Given the description of an element on the screen output the (x, y) to click on. 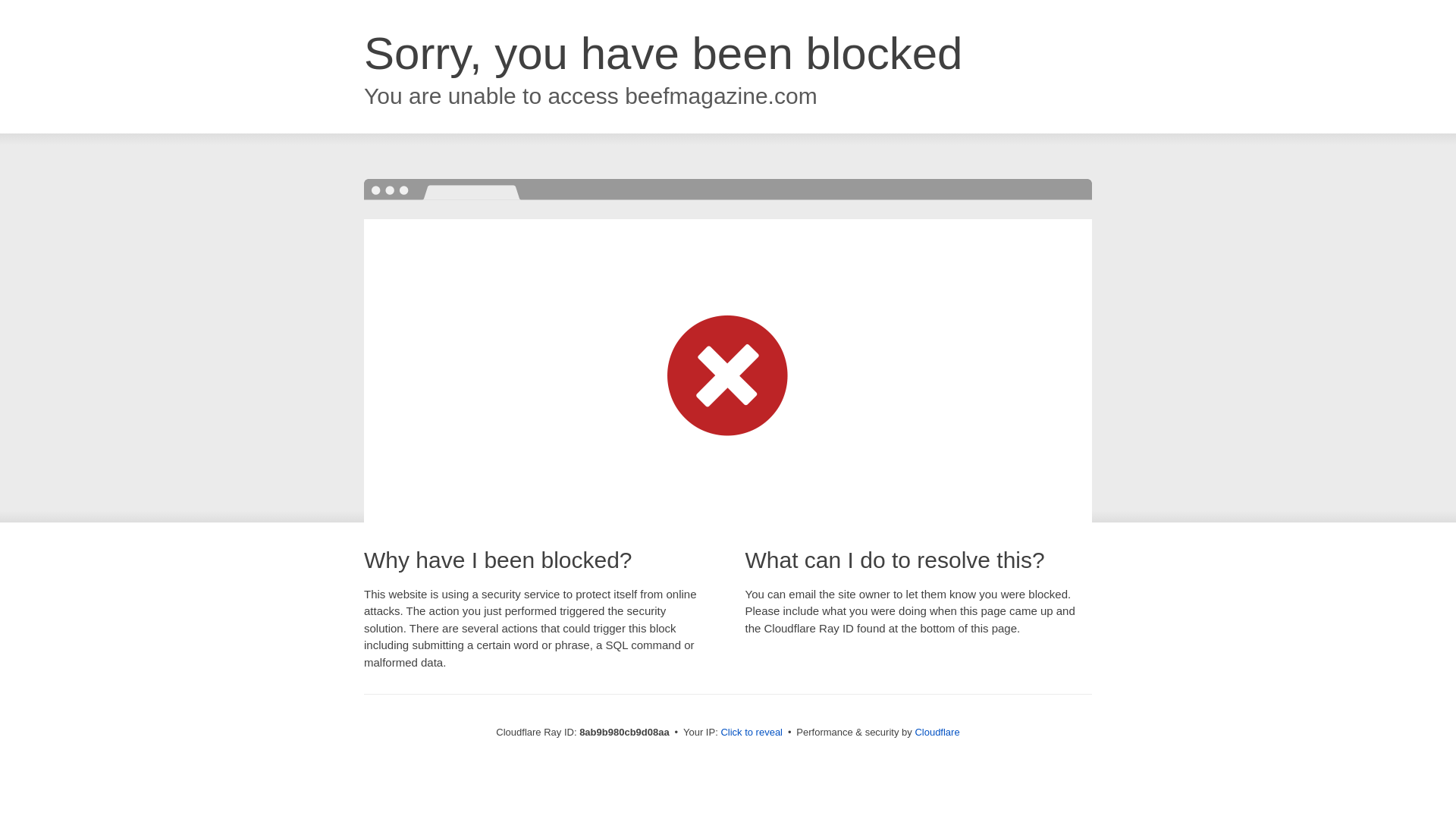
Cloudflare (936, 731)
Click to reveal (751, 732)
